Given the description of an element on the screen output the (x, y) to click on. 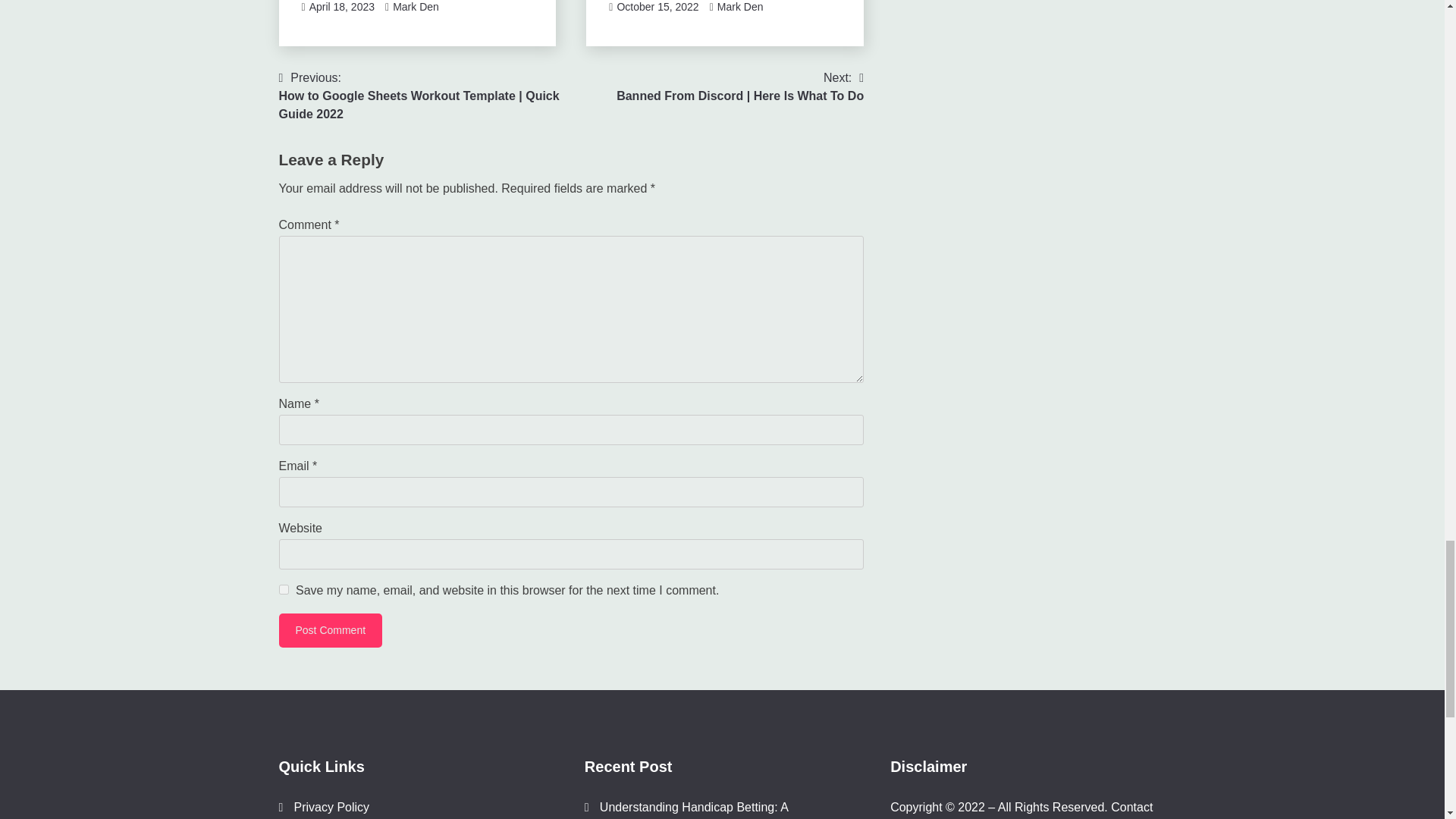
Mark Den (416, 6)
April 18, 2023 (341, 6)
Post Comment (330, 629)
yes (283, 588)
